Given the description of an element on the screen output the (x, y) to click on. 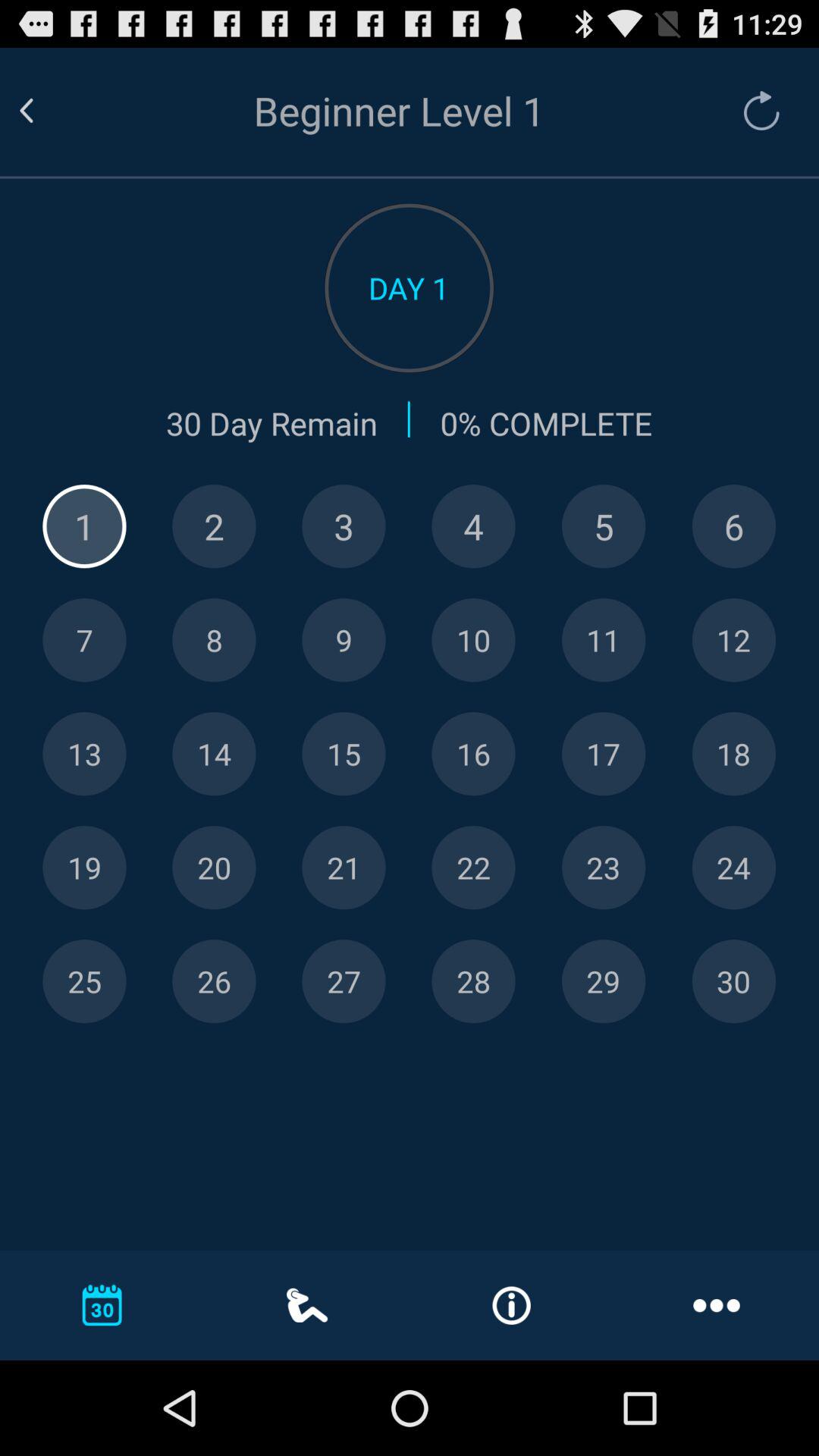
display day 11 (603, 639)
